Given the description of an element on the screen output the (x, y) to click on. 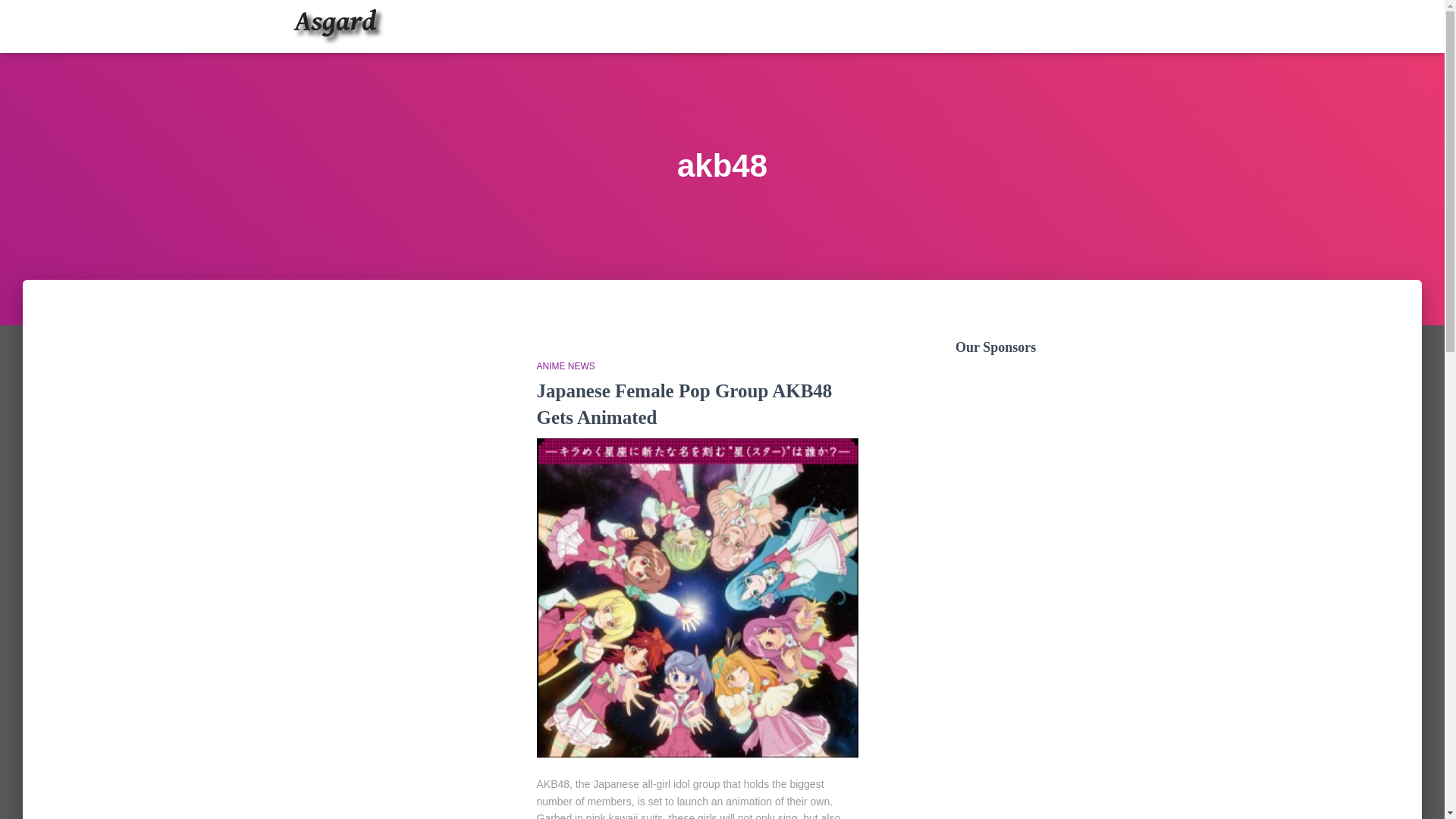
View all posts in Anime News (566, 366)
AKB48 anime (698, 597)
ANIME NEWS (566, 366)
Asgard Anime (337, 26)
Japanese Female Pop Group AKB48 Gets Animated (684, 403)
Japanese Female Pop Group AKB48 Gets Animated (684, 403)
